Given the description of an element on the screen output the (x, y) to click on. 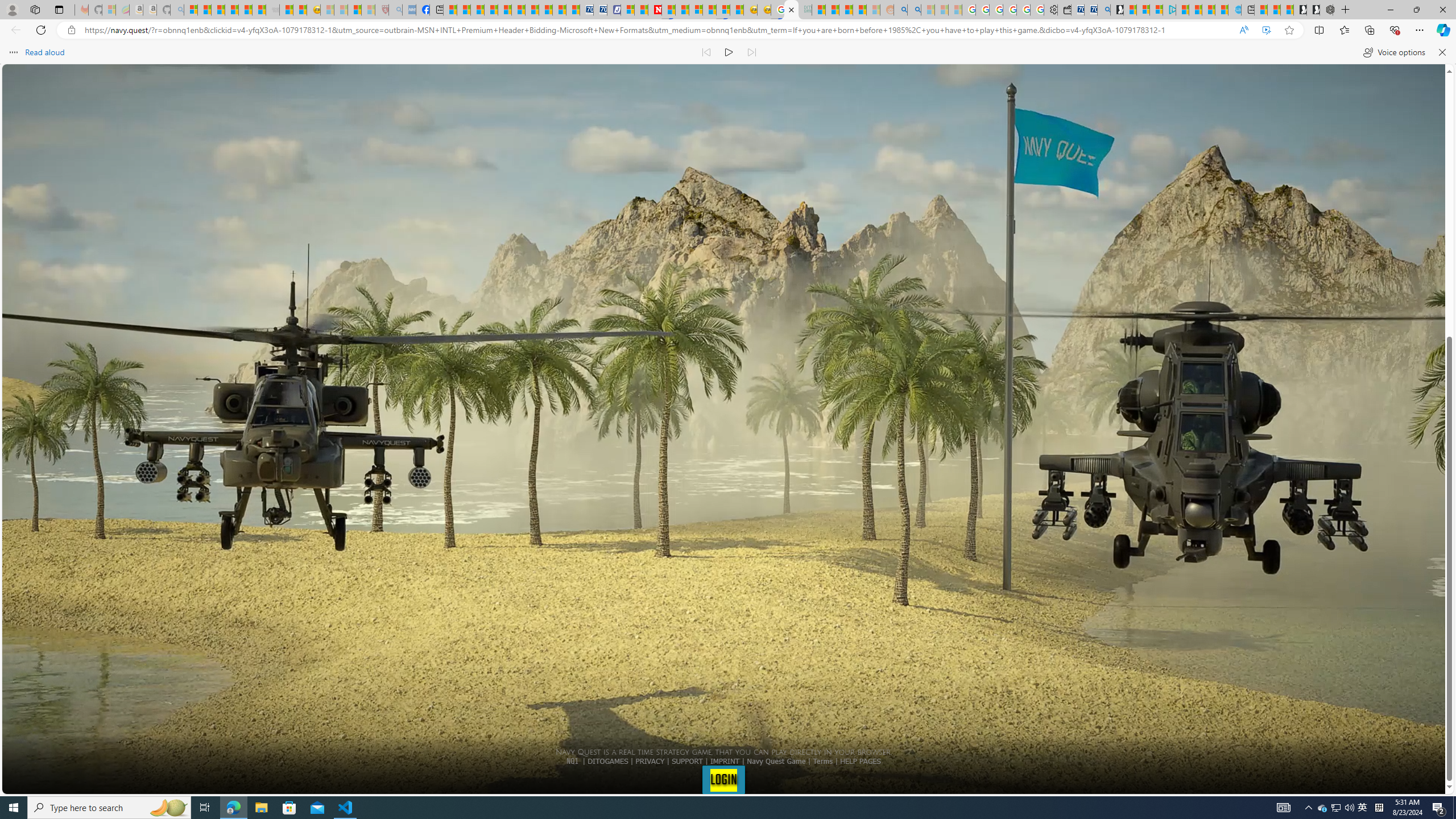
Terms (822, 760)
Close read aloud (1441, 52)
The Weather Channel - MSN (218, 9)
Student Loan Update: Forgiveness Program Ends This Month (858, 9)
